Given the description of an element on the screen output the (x, y) to click on. 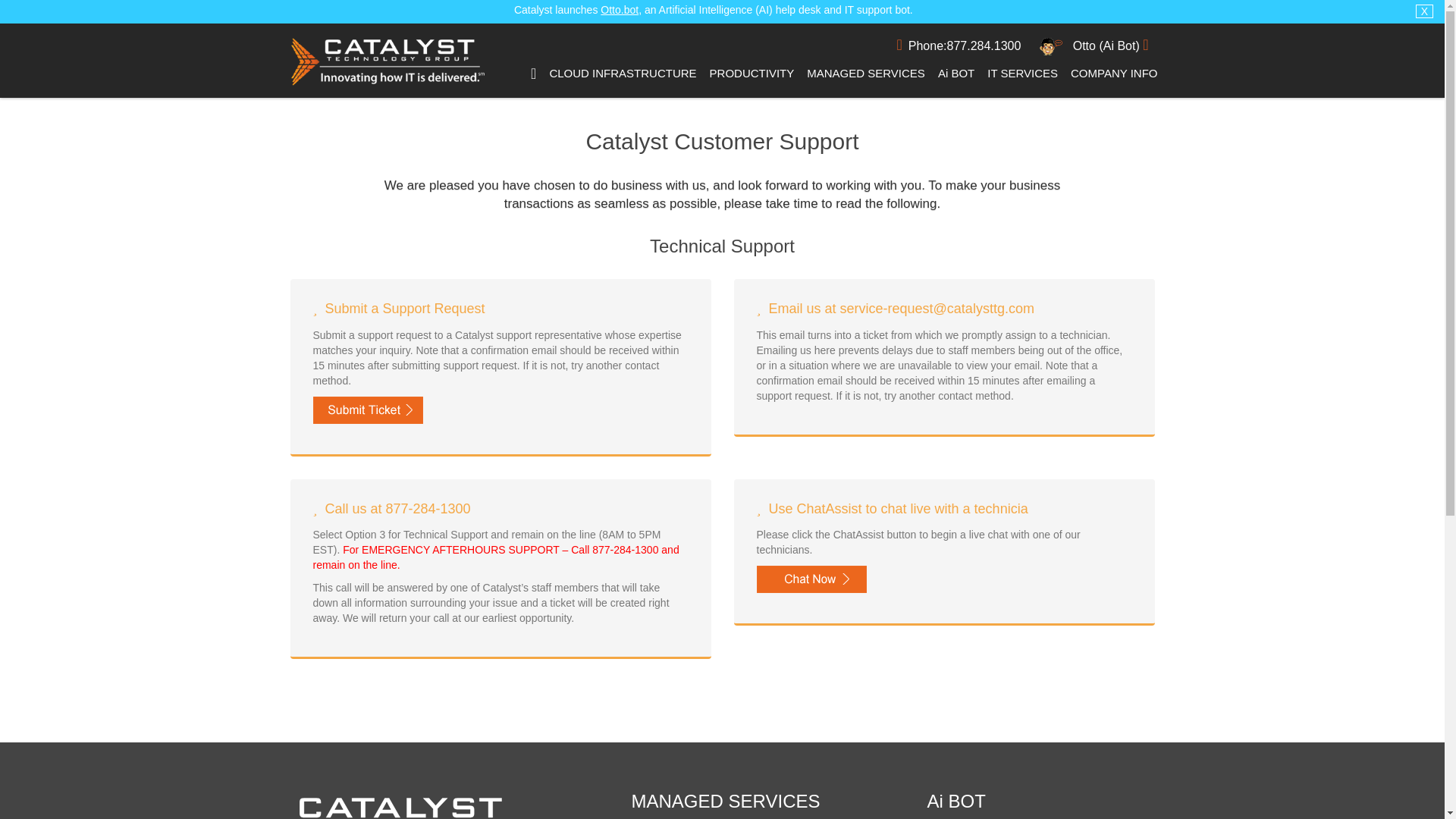
IT SERVICES (1022, 73)
MANAGED SERVICES (865, 73)
COMPANY INFO (1113, 73)
CLOUD INFRASTRUCTURE (621, 73)
PRODUCTIVITY (751, 73)
MANAGED SERVICES (866, 73)
PRODUCTIVITY (752, 73)
Ai BOT (955, 73)
COMPANY INFO (1113, 73)
CLOUD INFRASTRUCTURE (622, 73)
